Given the description of an element on the screen output the (x, y) to click on. 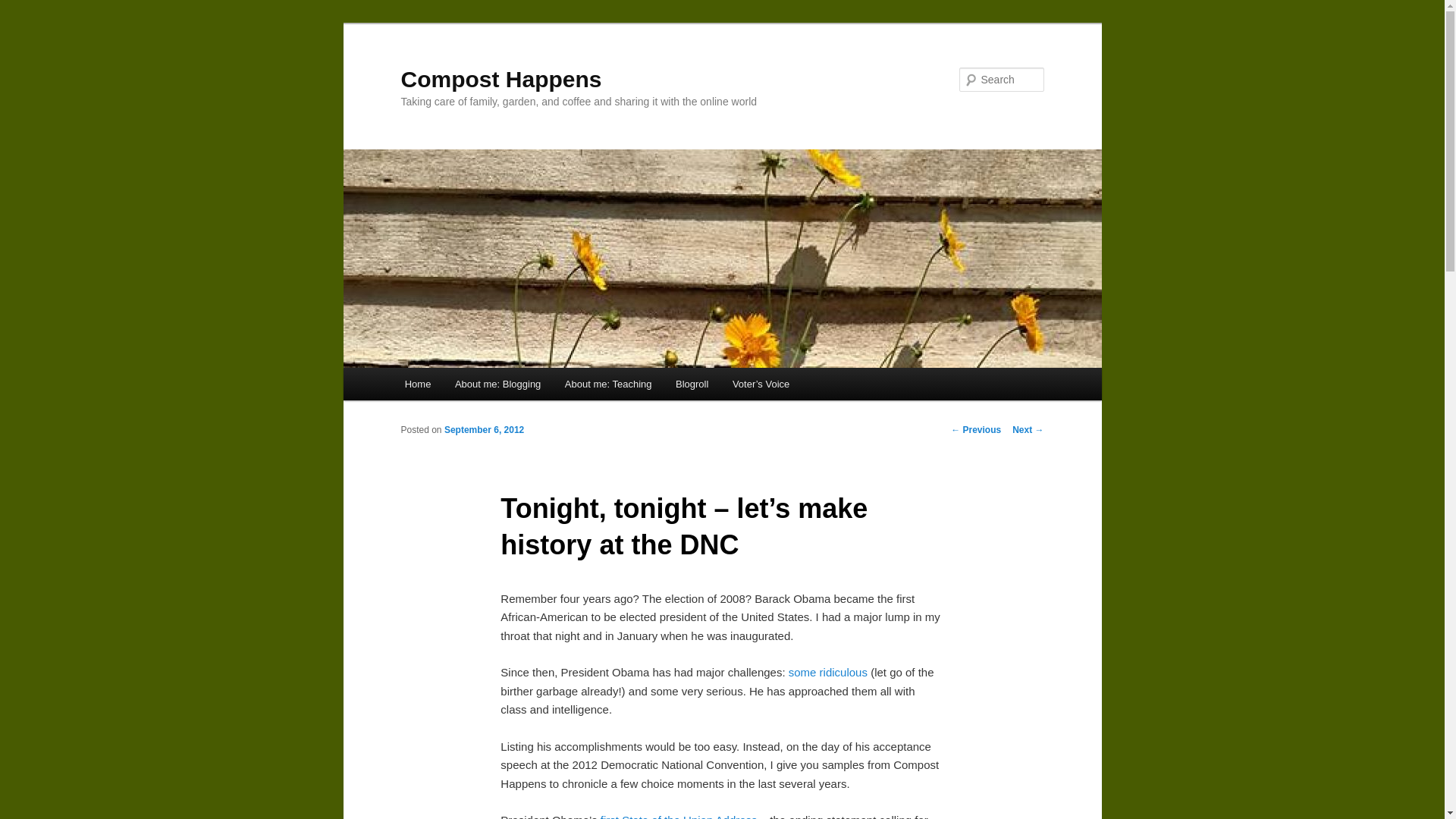
Compost Happens (500, 78)
Blogroll (691, 383)
Search (24, 8)
6:05 am (484, 429)
first State of the Union Address (678, 816)
Home (417, 383)
About me: Teaching (608, 383)
some ridiculous (828, 671)
About me: Blogging (497, 383)
